Given the description of an element on the screen output the (x, y) to click on. 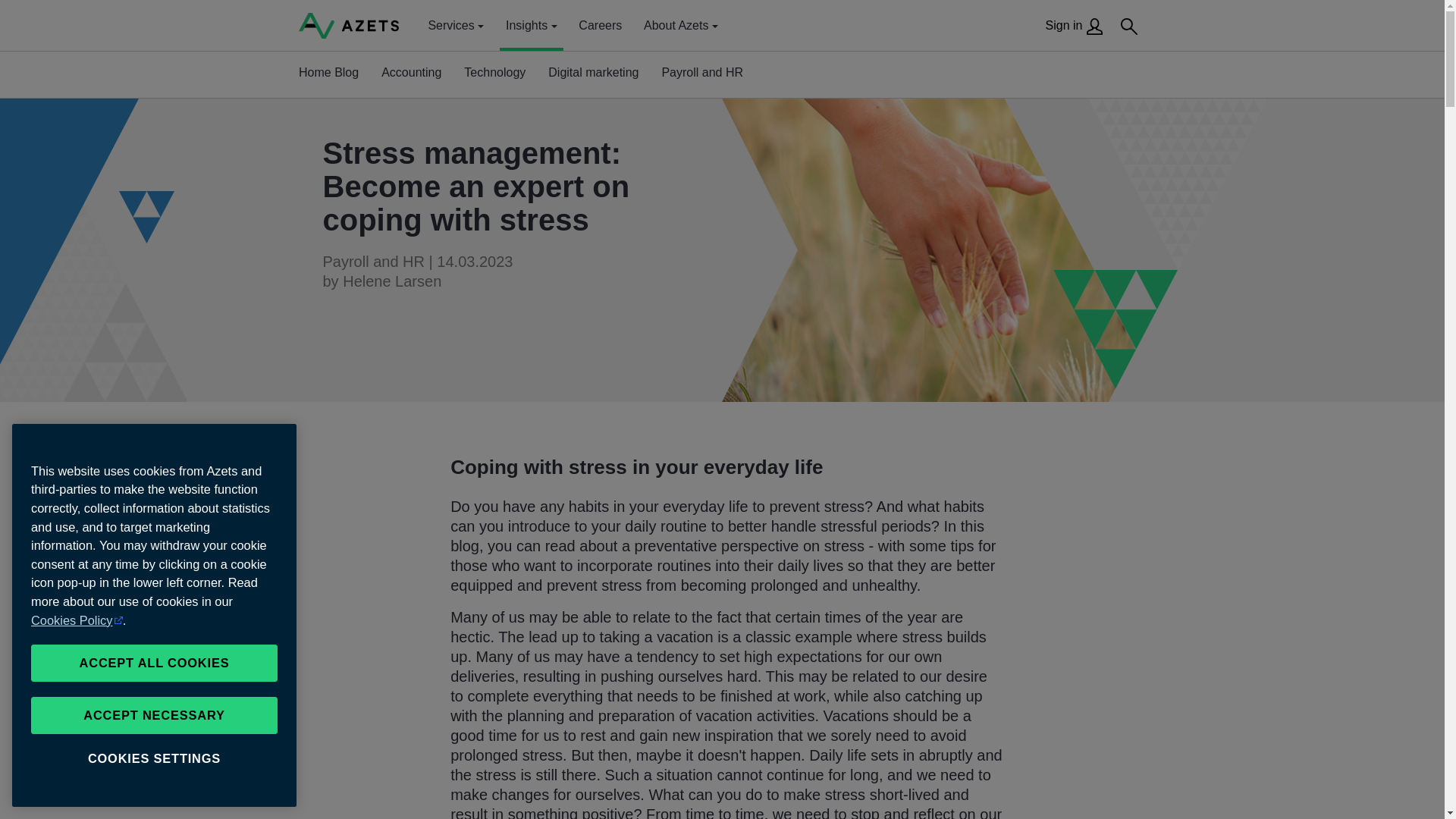
Careers (599, 24)
Services (455, 24)
Careers (599, 24)
About Azets (680, 24)
Sign in (1074, 26)
Insights (531, 24)
Services (455, 24)
About Azets (680, 24)
